Given the description of an element on the screen output the (x, y) to click on. 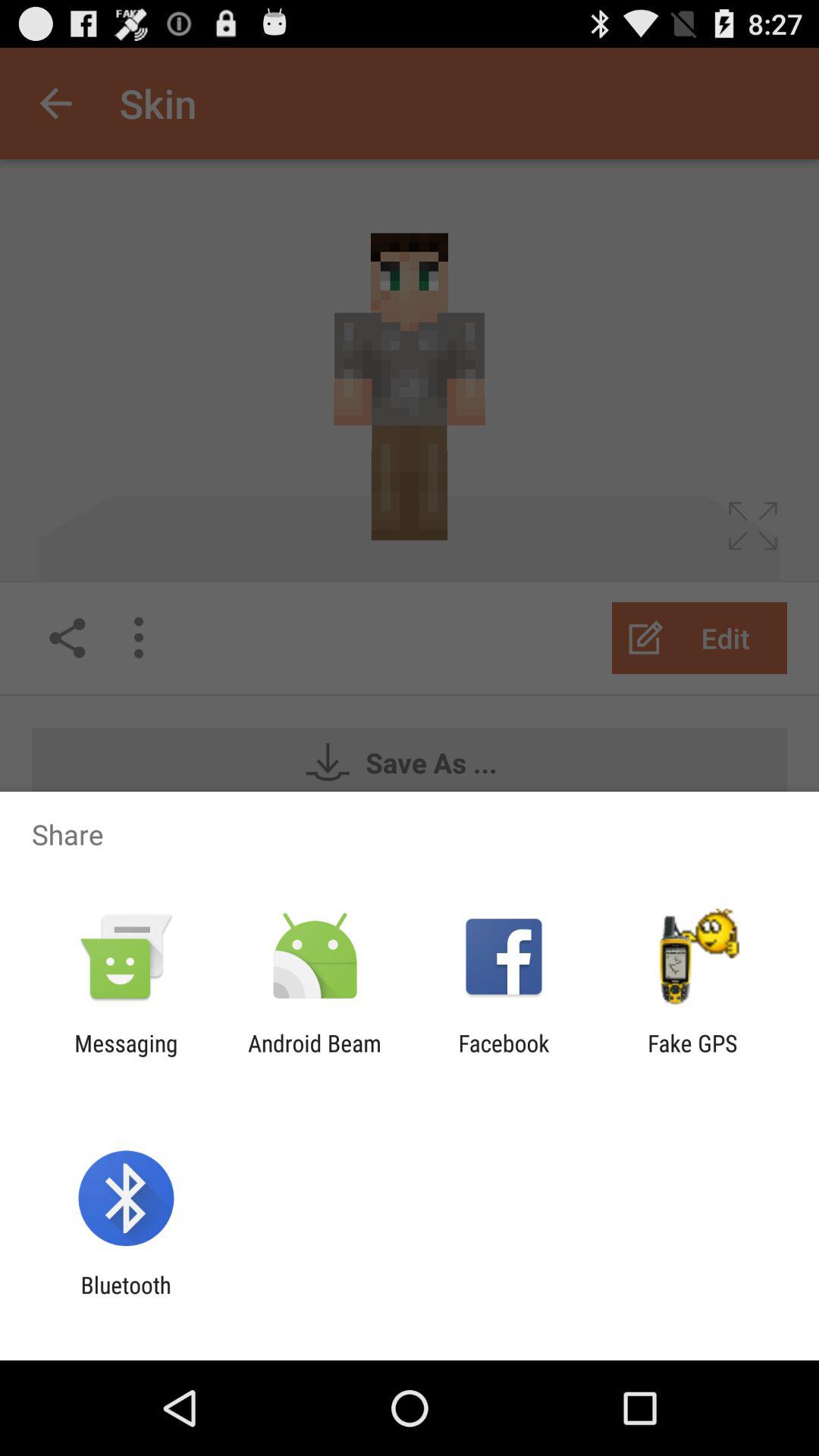
press the icon next to the android beam app (126, 1056)
